Given the description of an element on the screen output the (x, y) to click on. 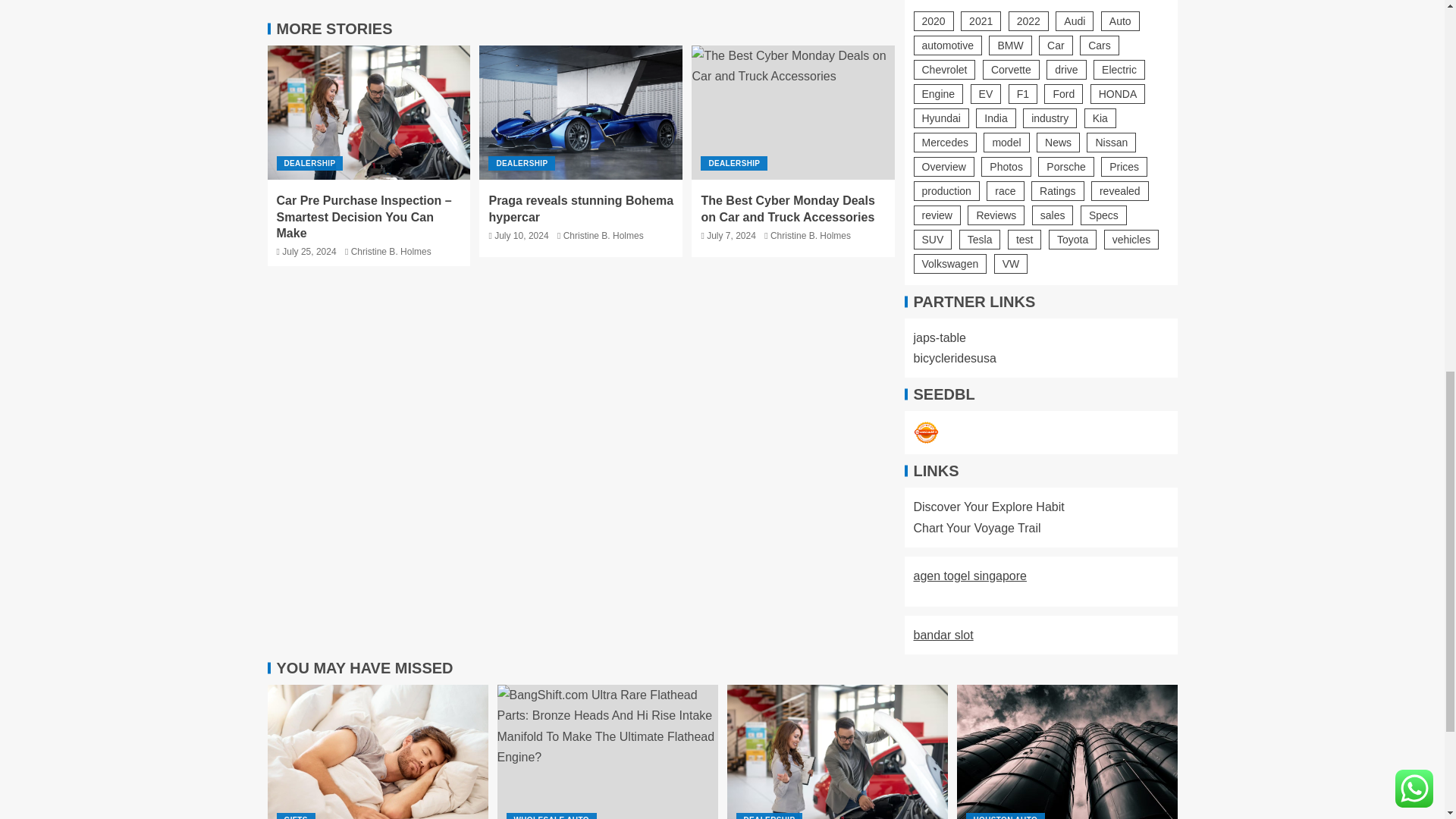
DEALERSHIP (309, 163)
Seedbacklink (925, 432)
DEALERSHIP (520, 163)
Praga reveals stunning Bohema hypercar (580, 112)
Christine B. Holmes (390, 251)
The Best Cyber Monday Deals on Car and Truck Accessories (793, 112)
